Given the description of an element on the screen output the (x, y) to click on. 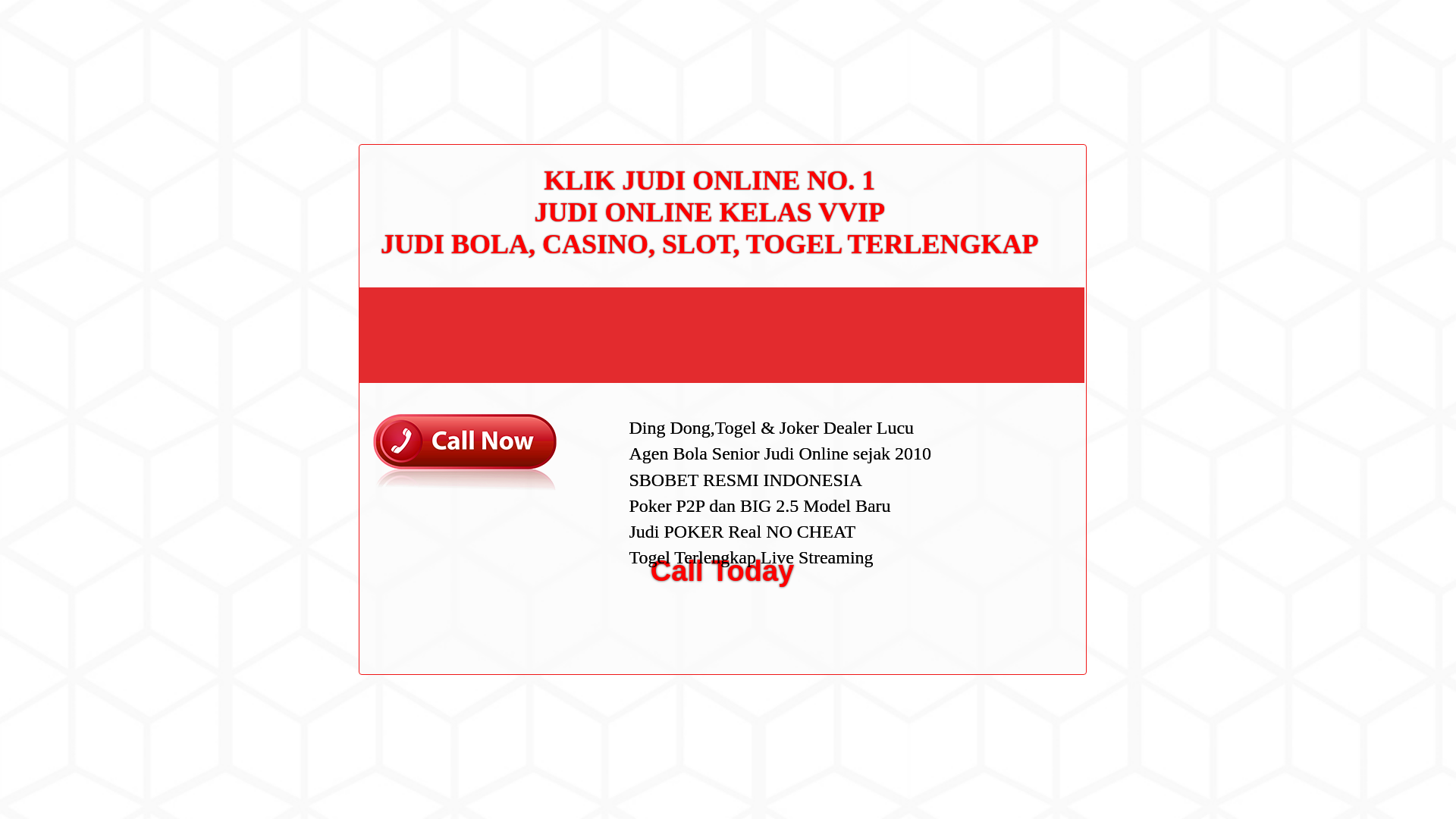
KANONSPORTS.COM (403, 28)
Contact Us (991, 258)
Search (1050, 85)
Disclaimer (990, 354)
Privacy Policy (999, 306)
Search (1050, 85)
Log in (980, 588)
Blog (976, 510)
ADMINISTRATOR (417, 81)
Terms of Use (996, 330)
August 2020 (996, 432)
Skip to content (34, 9)
RSS (977, 612)
Search (1050, 85)
Search for: (1049, 47)
